Given the description of an element on the screen output the (x, y) to click on. 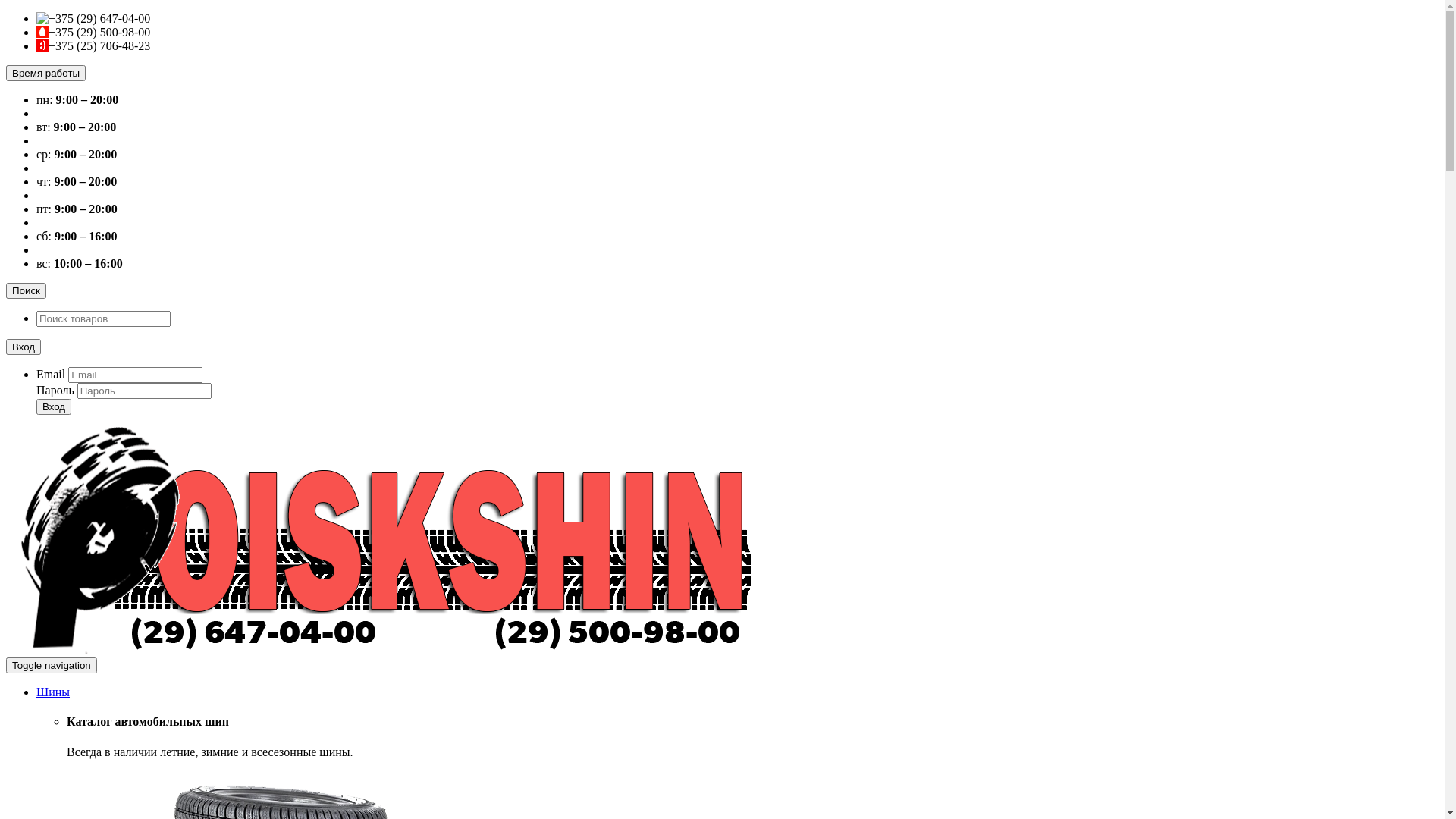
Toggle navigation Element type: text (51, 665)
